Given the description of an element on the screen output the (x, y) to click on. 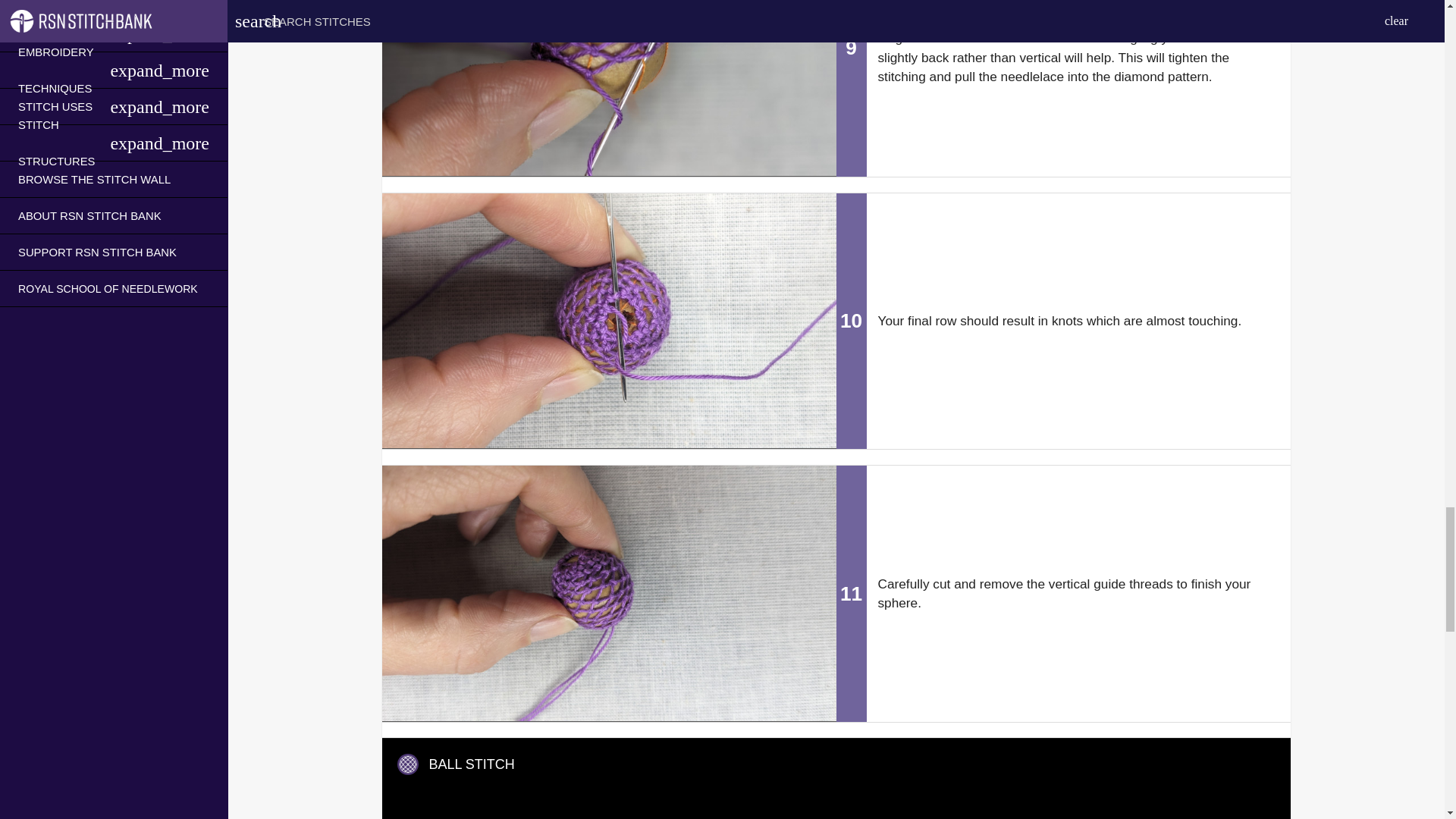
Ball stitch method stage 11 (608, 593)
Ball stitch method stage 9 (608, 88)
Ball stitch method stage 10 (608, 320)
